Given the description of an element on the screen output the (x, y) to click on. 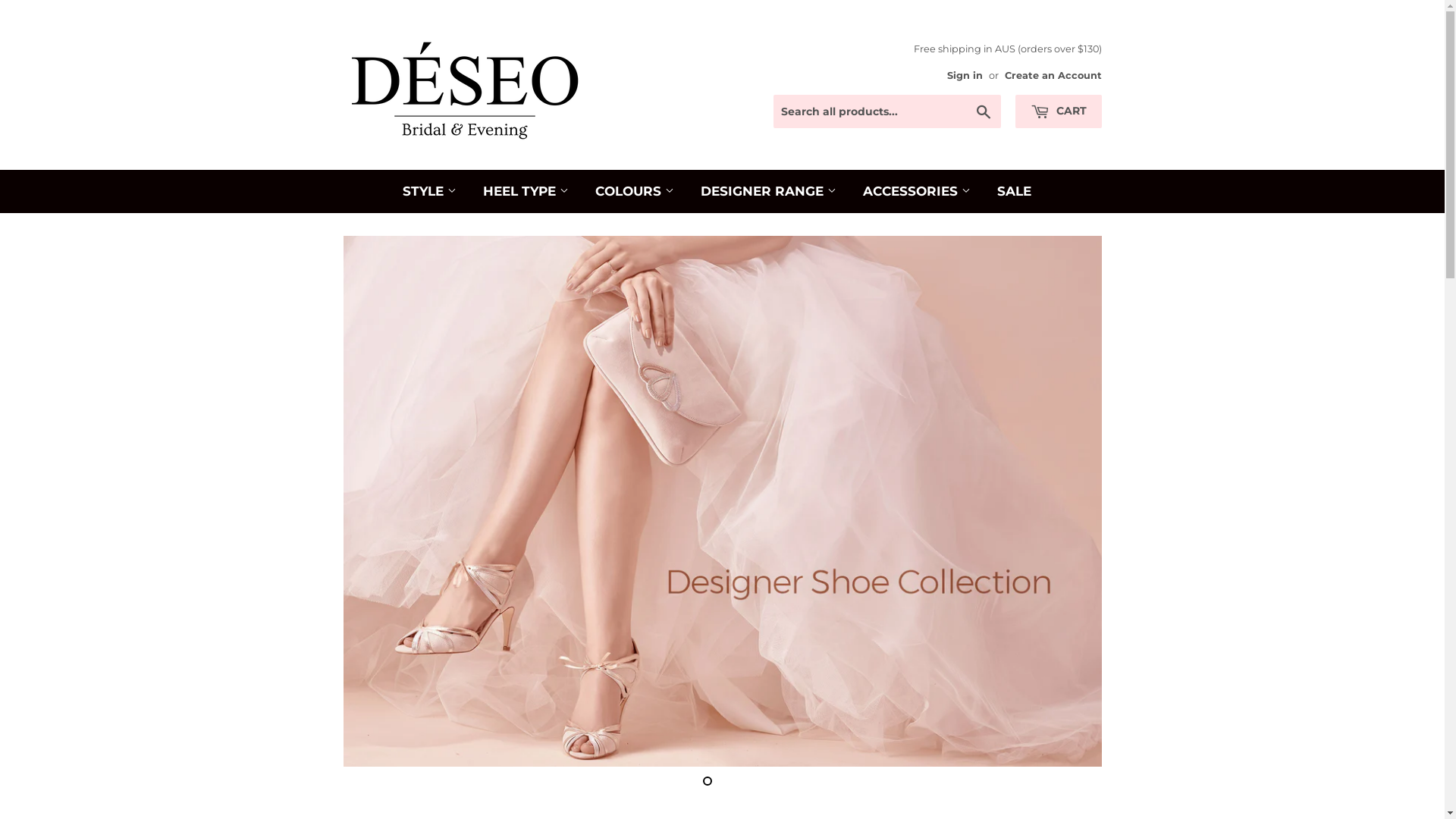
Sign in Element type: text (964, 75)
3 Element type: text (736, 780)
SALE Element type: text (1013, 191)
ACCESSORIES Element type: text (915, 191)
Create an Account Element type: text (1052, 75)
STYLE Element type: text (429, 191)
1 Element type: text (706, 780)
DESIGNER RANGE Element type: text (767, 191)
CART Element type: text (1057, 111)
Search Element type: text (983, 112)
2 Element type: text (721, 780)
HEEL TYPE Element type: text (525, 191)
COLOURS Element type: text (634, 191)
